Given the description of an element on the screen output the (x, y) to click on. 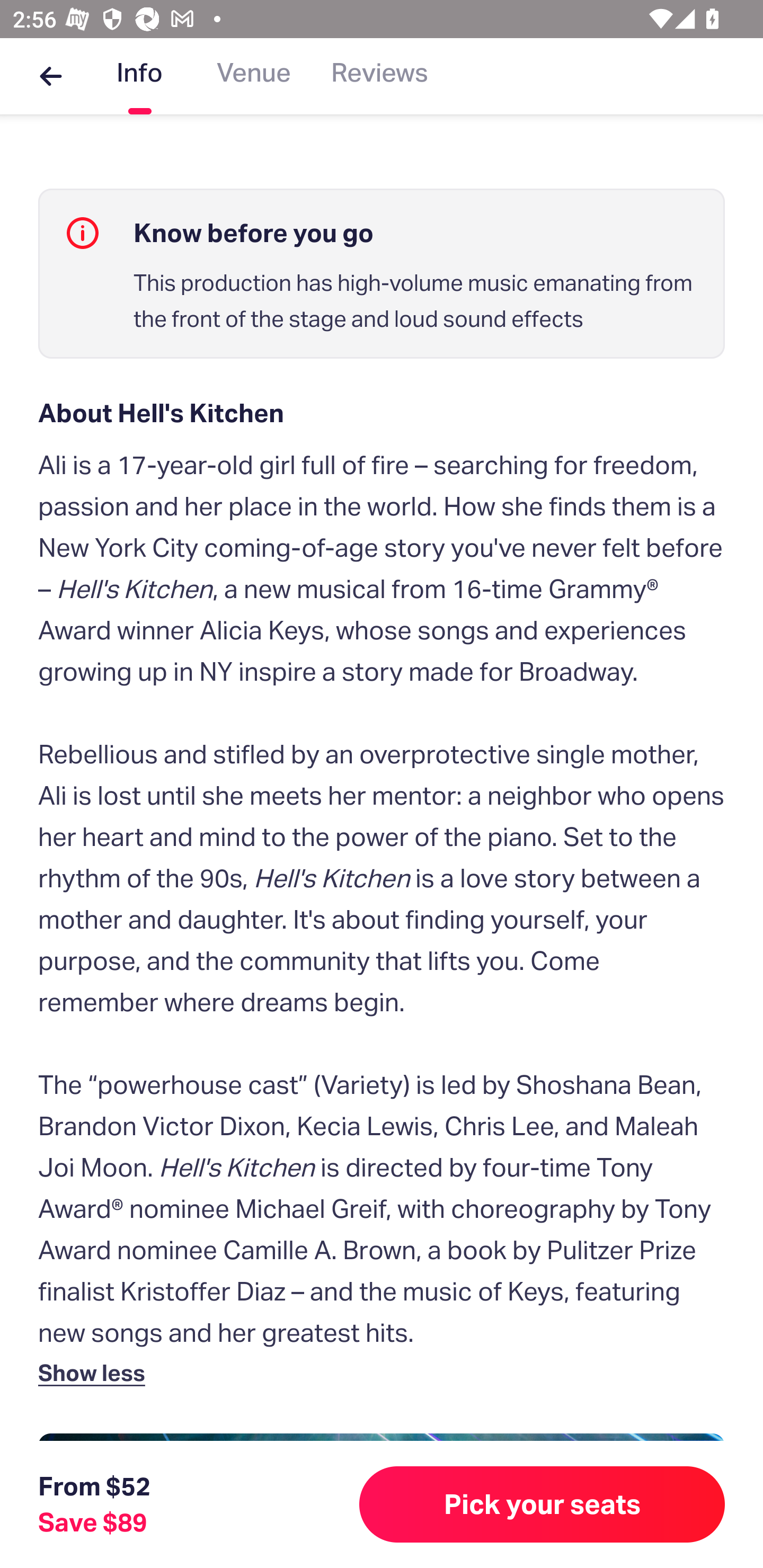
Venue (253, 75)
Reviews (379, 75)
About Hell's Kitchen (381, 412)
Show less (95, 1371)
Pick your seats (541, 1504)
